Given the description of an element on the screen output the (x, y) to click on. 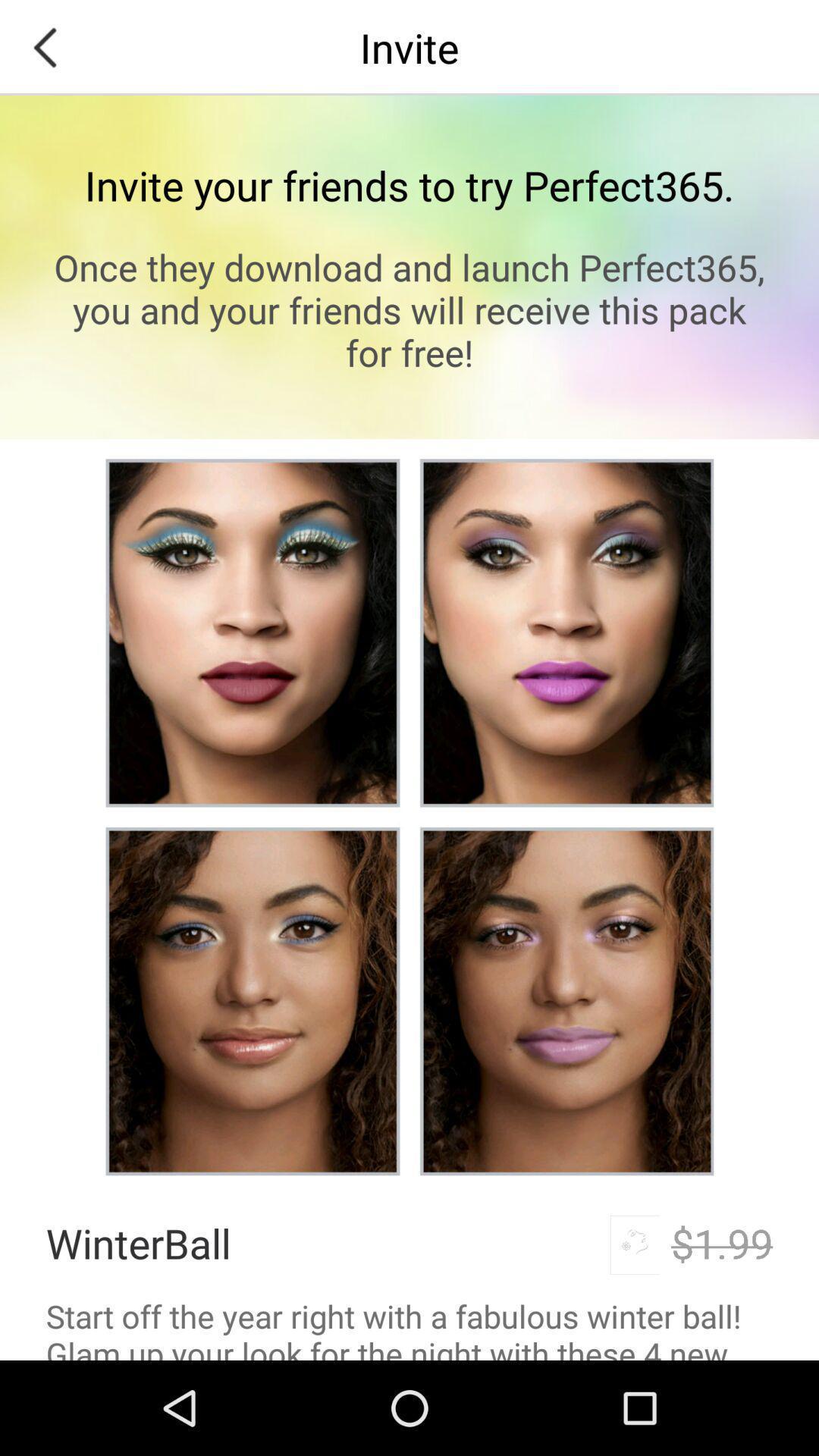
tap $1.99 (721, 1242)
